Given the description of an element on the screen output the (x, y) to click on. 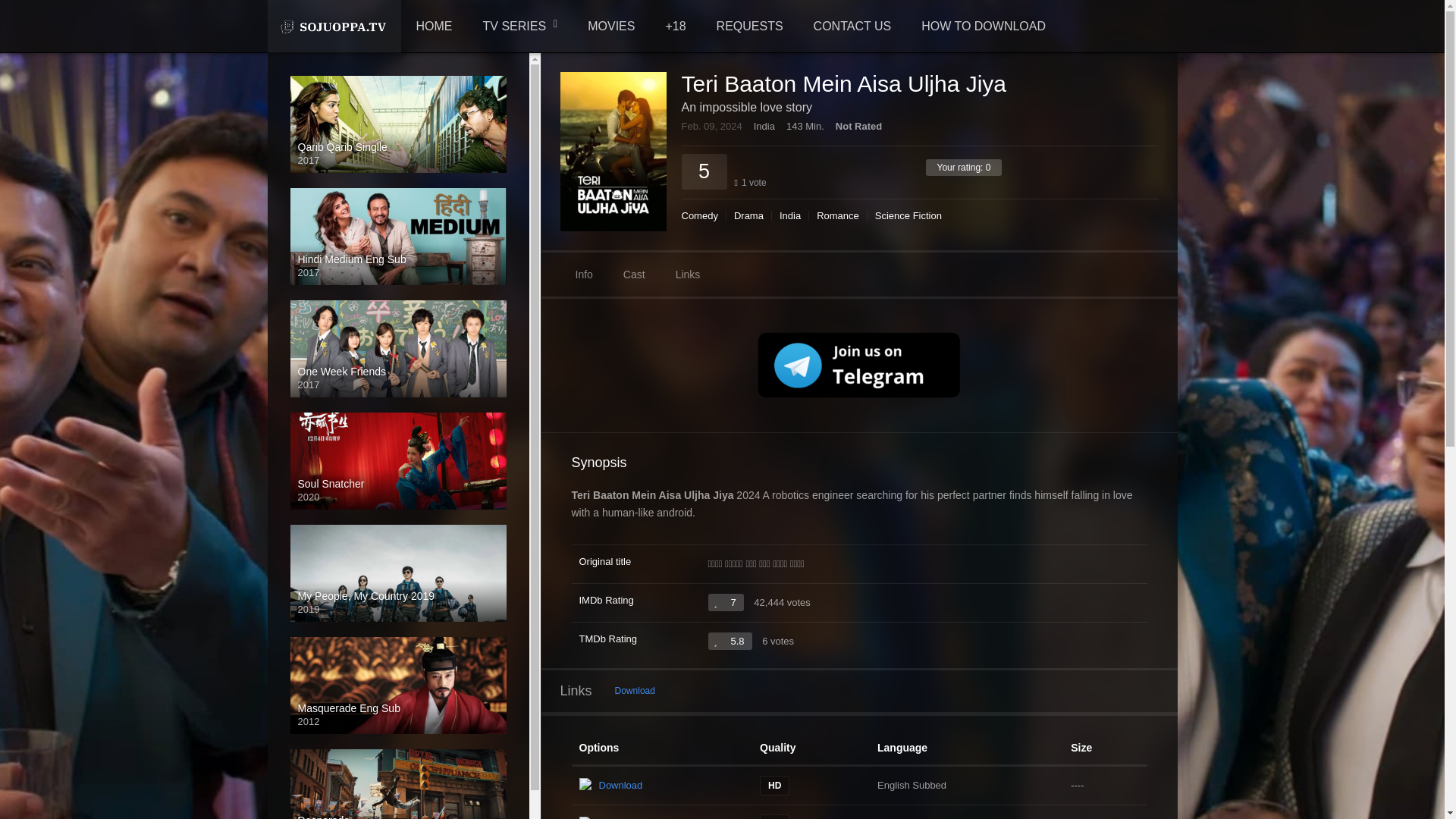
REQUESTS (749, 26)
TV SERIES (520, 26)
MOVIES (610, 26)
HOME (434, 26)
HOW TO DOWNLOAD (983, 26)
CONTACT US (852, 26)
